Given the description of an element on the screen output the (x, y) to click on. 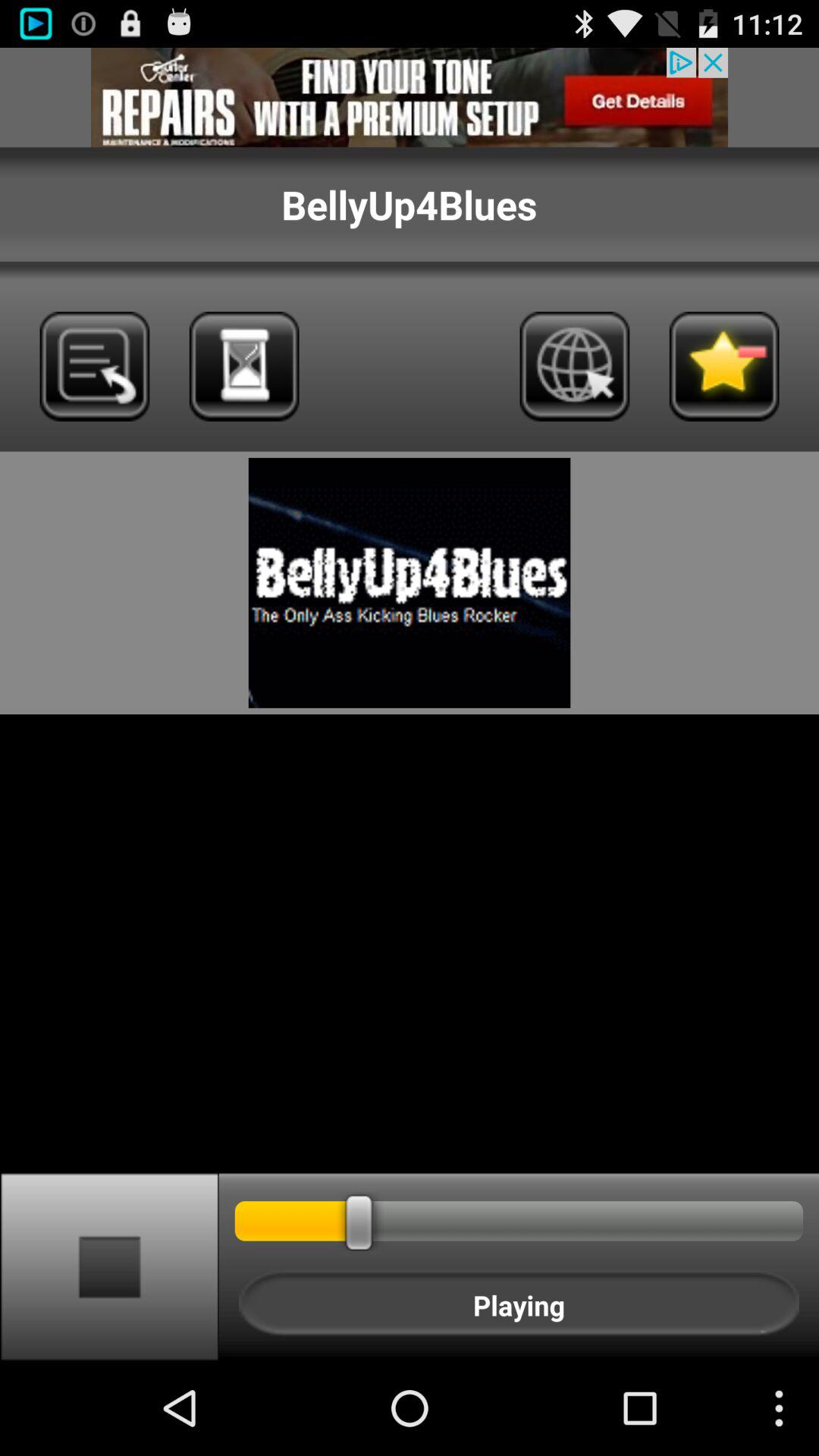
icon page (574, 366)
